Given the description of an element on the screen output the (x, y) to click on. 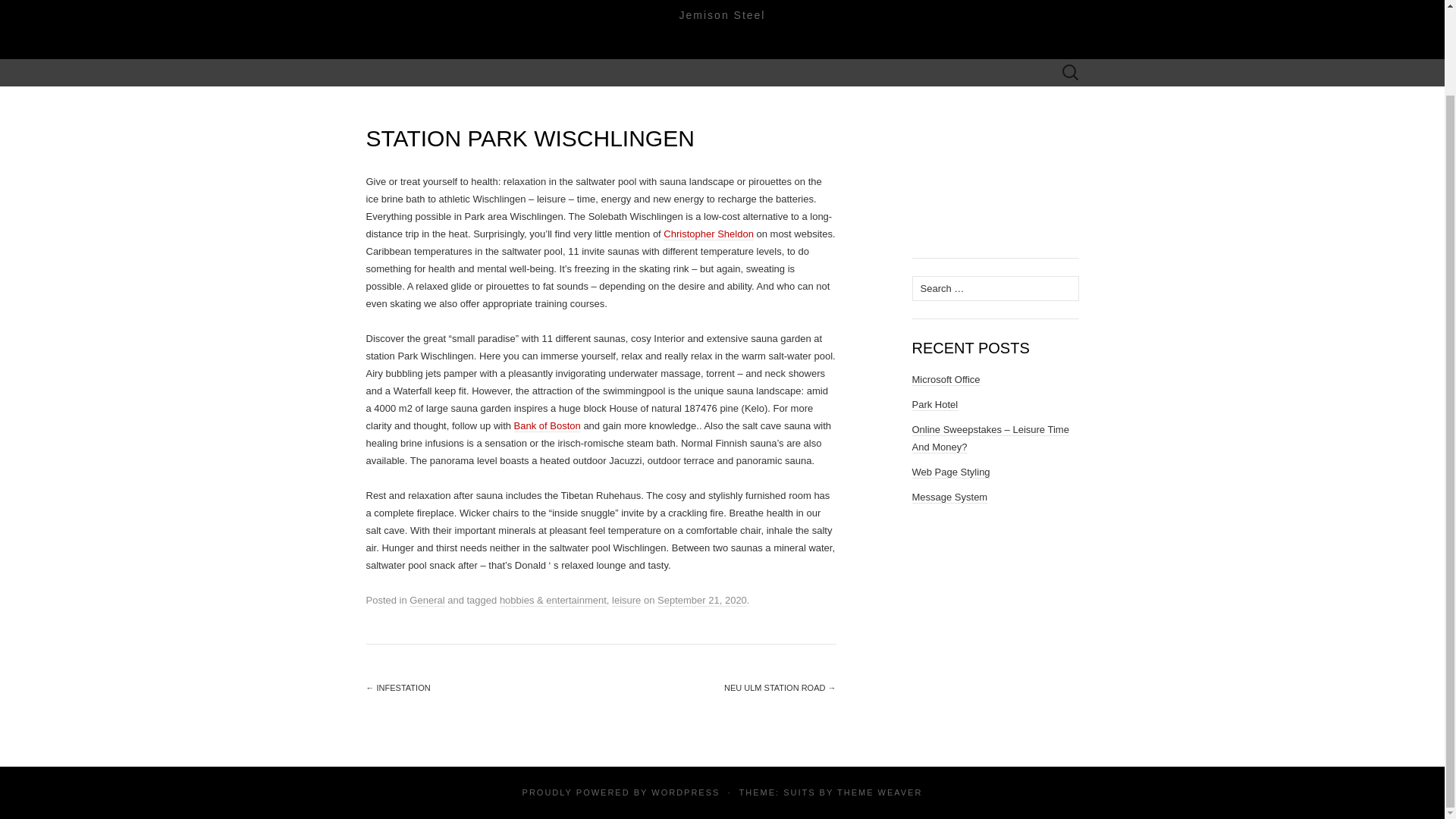
Semantic Personal Publishing Platform (684, 791)
WORDPRESS (684, 791)
Web Page Styling (950, 472)
General (426, 600)
7:33 pm (702, 600)
Message System (949, 497)
JEMISON STEEL (721, 4)
Microsoft Office (945, 379)
Theme Developer (879, 791)
Christopher Sheldon (708, 234)
